Given the description of an element on the screen output the (x, y) to click on. 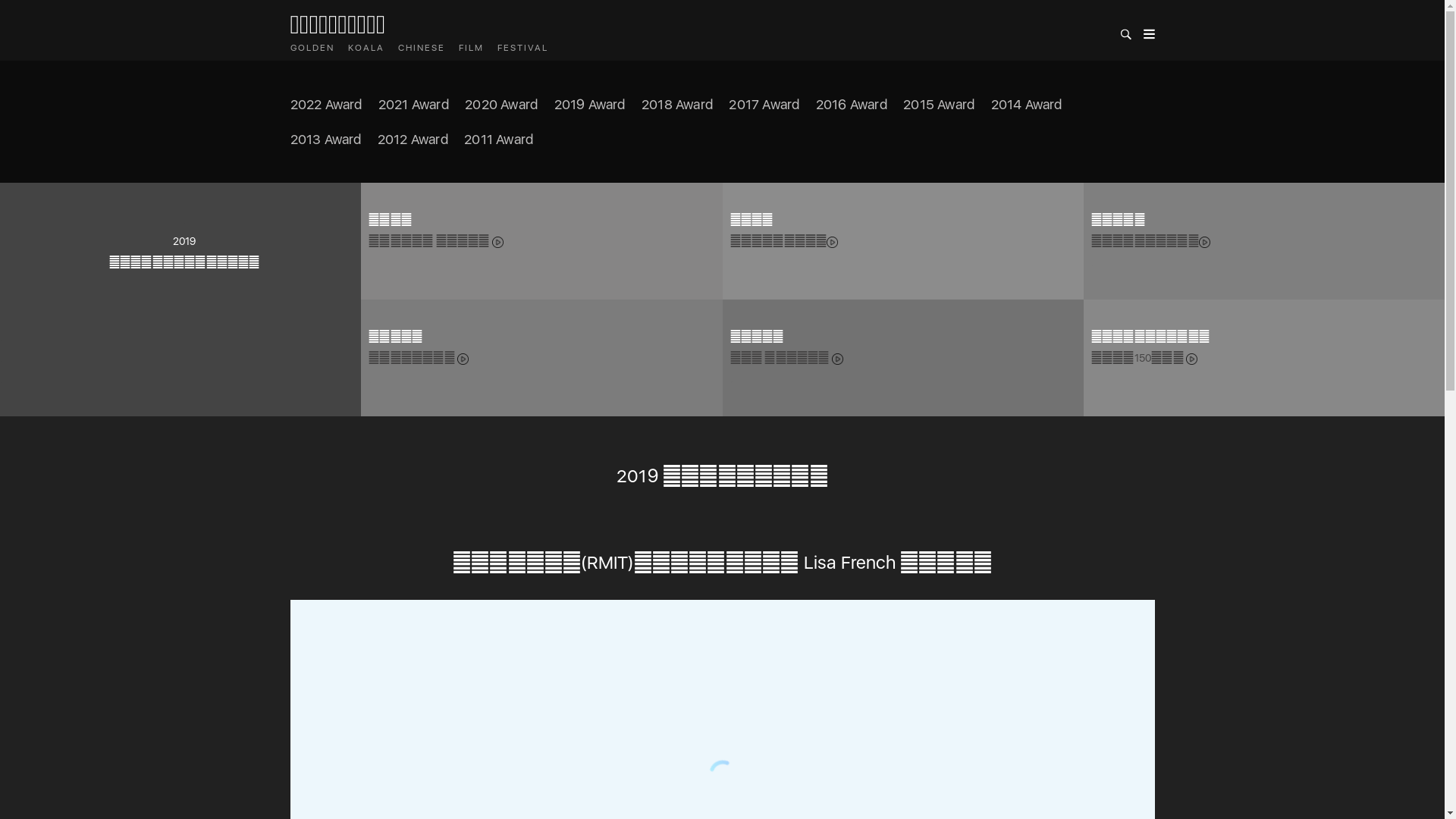
2019 Award Element type: text (589, 104)
2012 Award Element type: text (412, 138)
2014 Award Element type: text (1026, 104)
2022 Award Element type: text (325, 104)
2011 Award Element type: text (498, 138)
2021 Award Element type: text (413, 104)
2015 Award Element type: text (938, 104)
2017 Award Element type: text (763, 104)
2013 Award Element type: text (324, 138)
2020 Award Element type: text (500, 104)
2018 Award Element type: text (676, 104)
2016 Award Element type: text (851, 104)
